Given the description of an element on the screen output the (x, y) to click on. 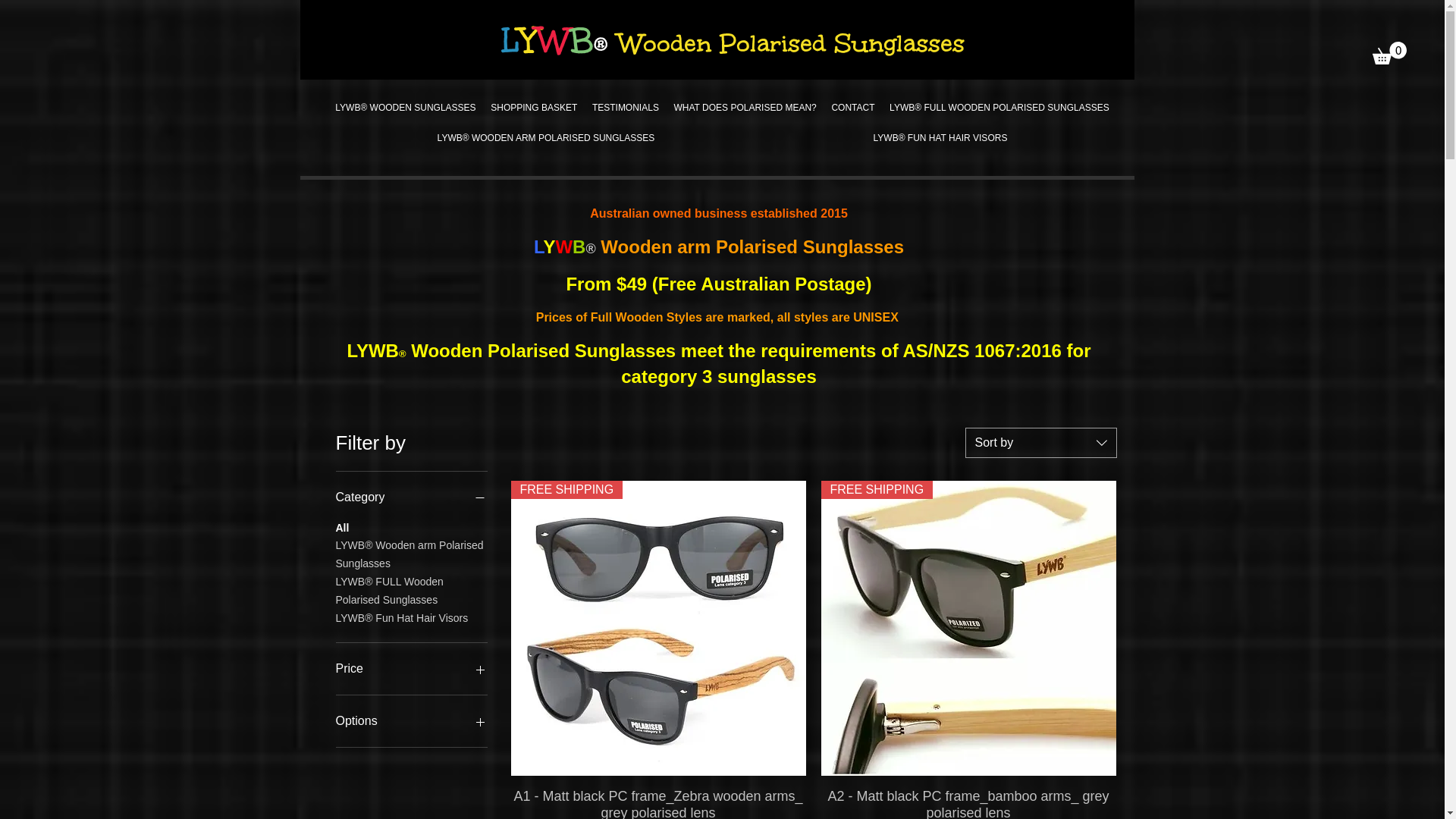
CONTACT Element type: text (853, 107)
0 Element type: text (1389, 52)
Options Element type: text (410, 720)
Category Element type: text (410, 497)
Price Element type: text (410, 668)
FREE SHIPPING Element type: text (658, 627)
FREE SHIPPING Element type: text (967, 627)
Sort by Element type: text (1040, 442)
WHAT DOES POLARISED MEAN? Element type: text (745, 107)
SHOPPING BASKET Element type: text (533, 107)
TESTIMONIALS Element type: text (625, 107)
